Given the description of an element on the screen output the (x, y) to click on. 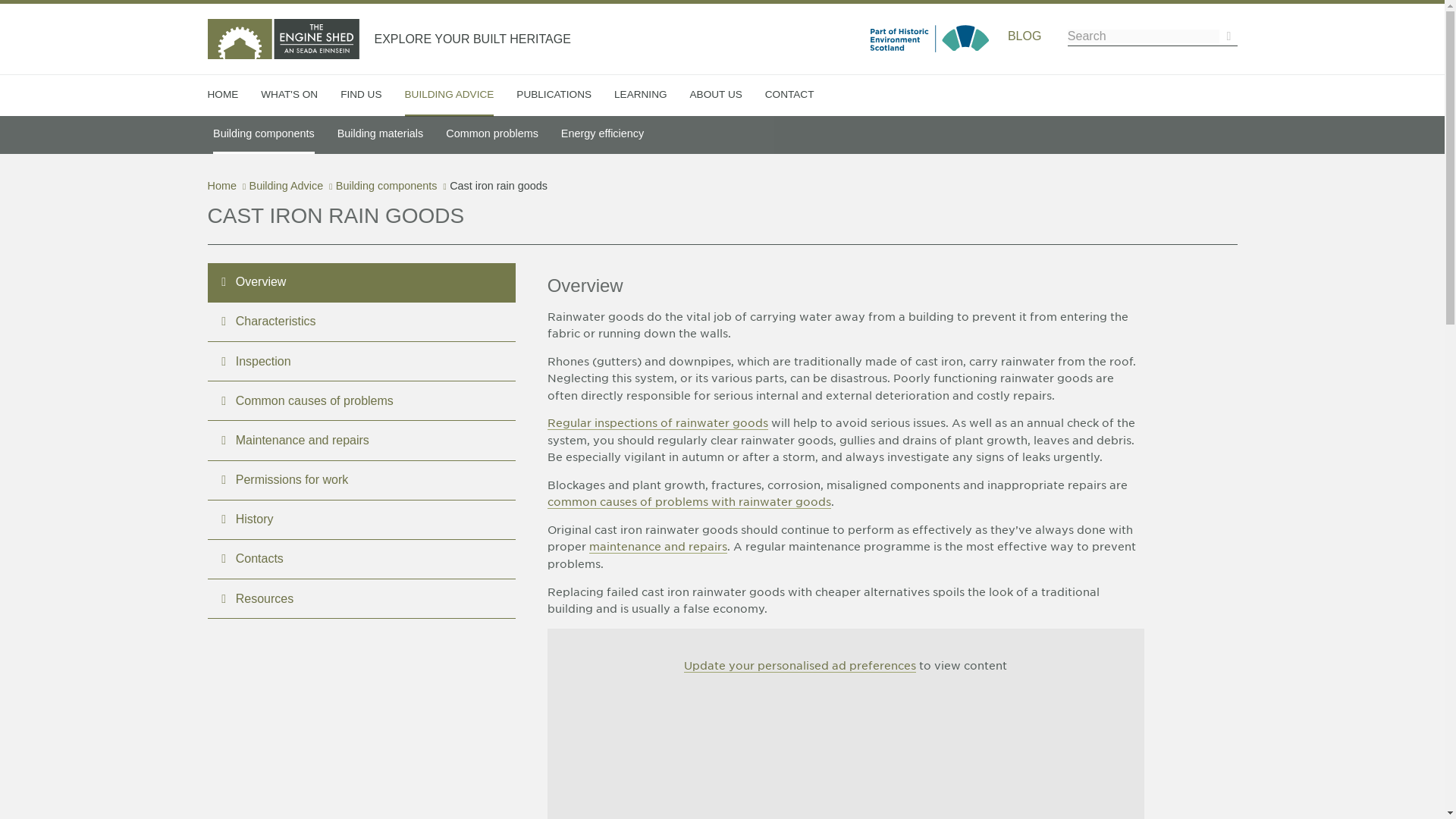
Energy efficiency (601, 133)
Inspection (657, 422)
WHAT'S ON (288, 94)
FIND US (360, 94)
BLOG (1024, 35)
PUBLICATIONS (553, 94)
BUILDING ADVICE (449, 96)
Common causes of problems (689, 501)
CONTACT (789, 94)
Building components (263, 134)
